Given the description of an element on the screen output the (x, y) to click on. 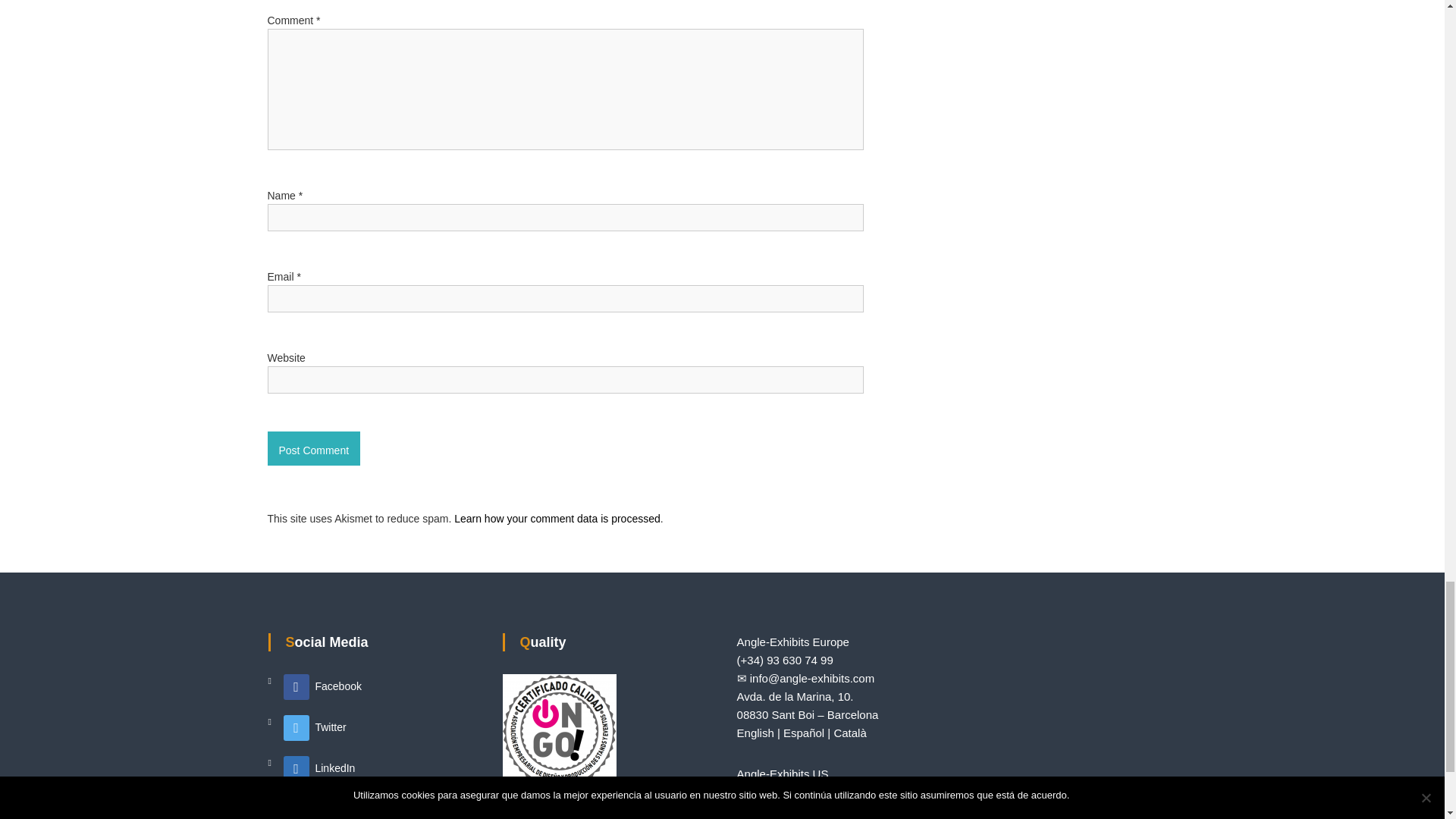
Twitter (314, 727)
Post Comment (312, 448)
YouTube (319, 808)
Facebook (322, 686)
LinkedIn (319, 767)
Learn how your comment data is processed (557, 518)
Post Comment (312, 448)
